Given the description of an element on the screen output the (x, y) to click on. 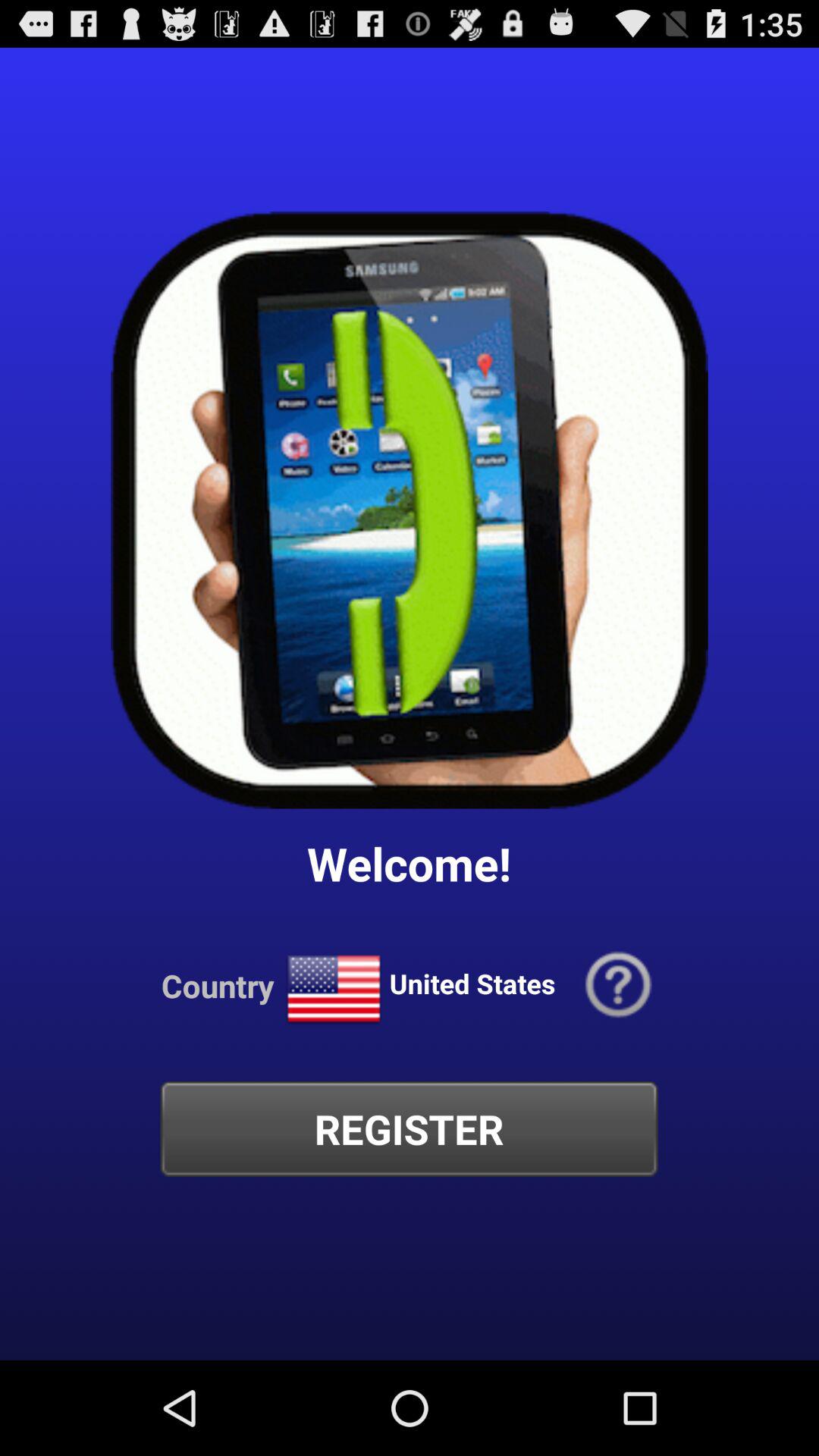
tap the button above the register button (618, 985)
